Given the description of an element on the screen output the (x, y) to click on. 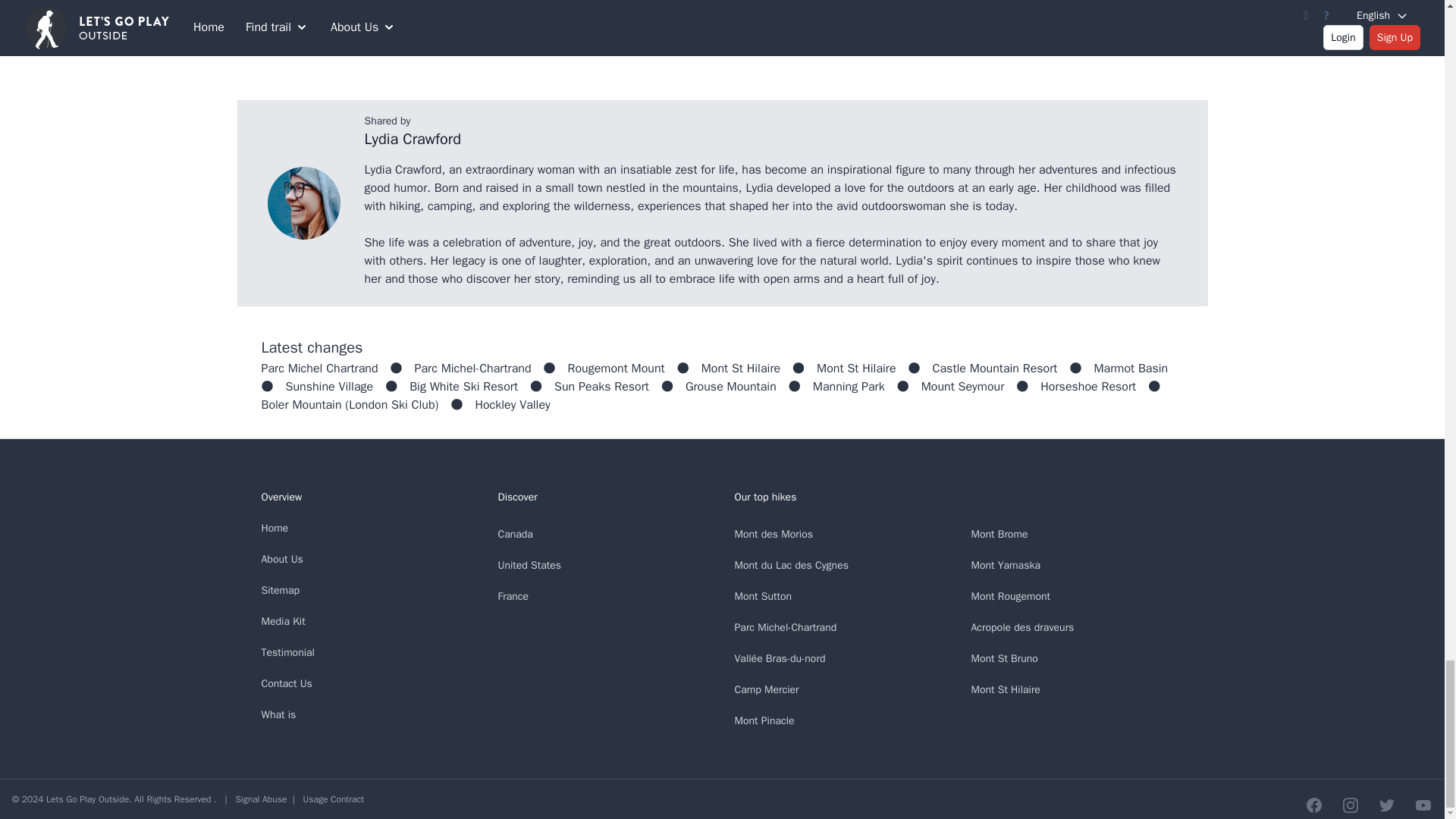
What is (277, 714)
About Us (281, 558)
Signal Abuse (260, 799)
Sitemap (279, 590)
Media Kit (282, 621)
Home (274, 527)
Testimonial (287, 652)
Contact Us (285, 683)
